Given the description of an element on the screen output the (x, y) to click on. 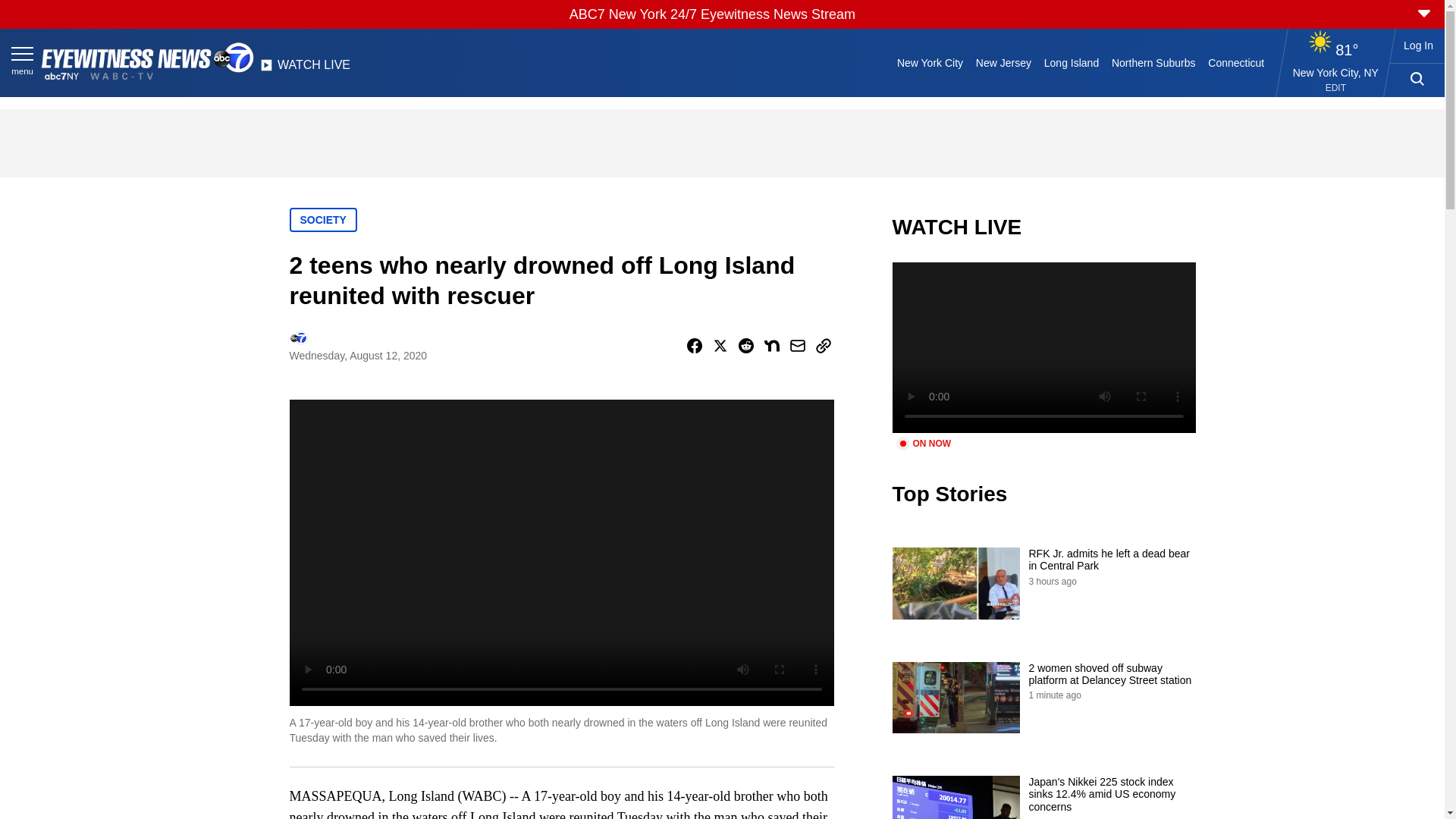
video.title (1043, 347)
New Jersey (1002, 62)
EDIT (1334, 87)
Northern Suburbs (1153, 62)
New York City, NY (1335, 72)
Long Island (1070, 62)
Connecticut (1236, 62)
New York City (930, 62)
WATCH LIVE (305, 69)
